Given the description of an element on the screen output the (x, y) to click on. 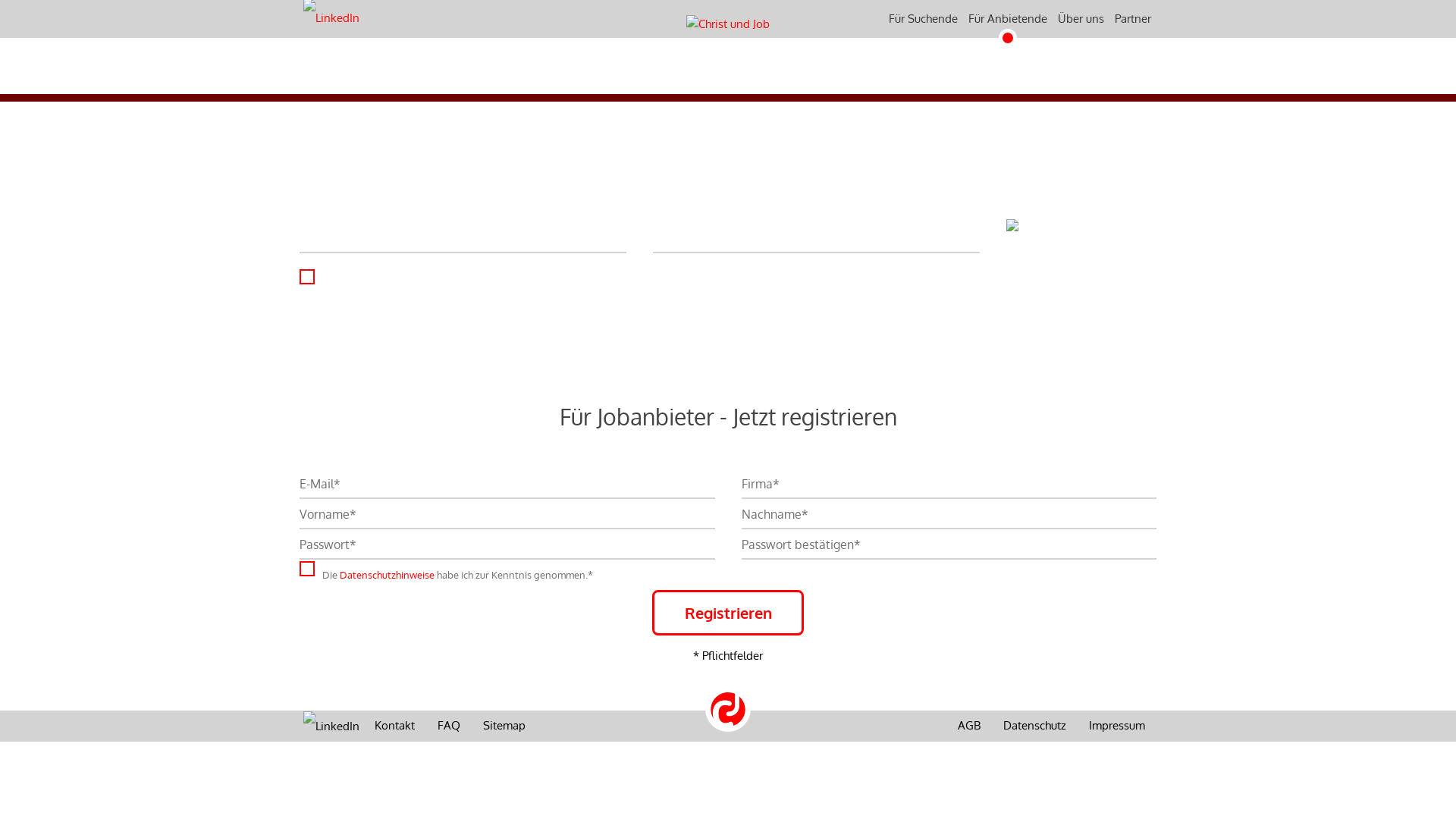
Registrieren Element type: text (727, 612)
AGB Element type: text (968, 725)
zum Seitenanfang Element type: hover (727, 708)
Impressum Element type: text (1116, 725)
Kontakt Element type: text (394, 725)
Datenschutzhinweise Element type: text (386, 574)
LinkedIn Element type: hover (331, 725)
Christ und Job Element type: hover (727, 65)
FAQ Element type: text (448, 725)
zum Seitenanfang Element type: hover (727, 707)
Sitemap Element type: text (503, 725)
Passwort vergessen? Element type: text (727, 278)
Datenschutz Element type: text (1034, 725)
Partner Element type: text (1132, 18)
